Given the description of an element on the screen output the (x, y) to click on. 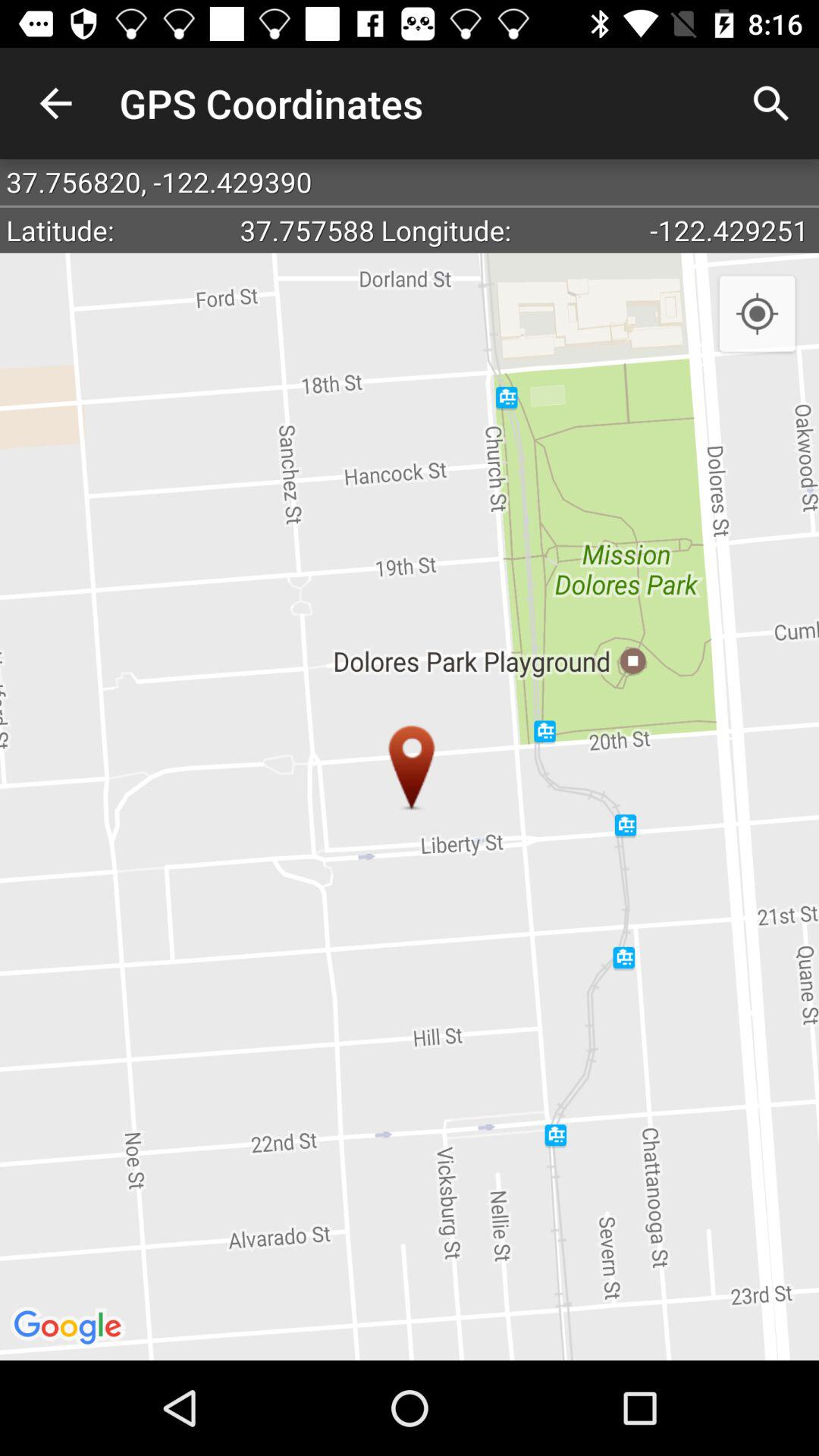
turn off the item next to the gps coordinates item (55, 103)
